Given the description of an element on the screen output the (x, y) to click on. 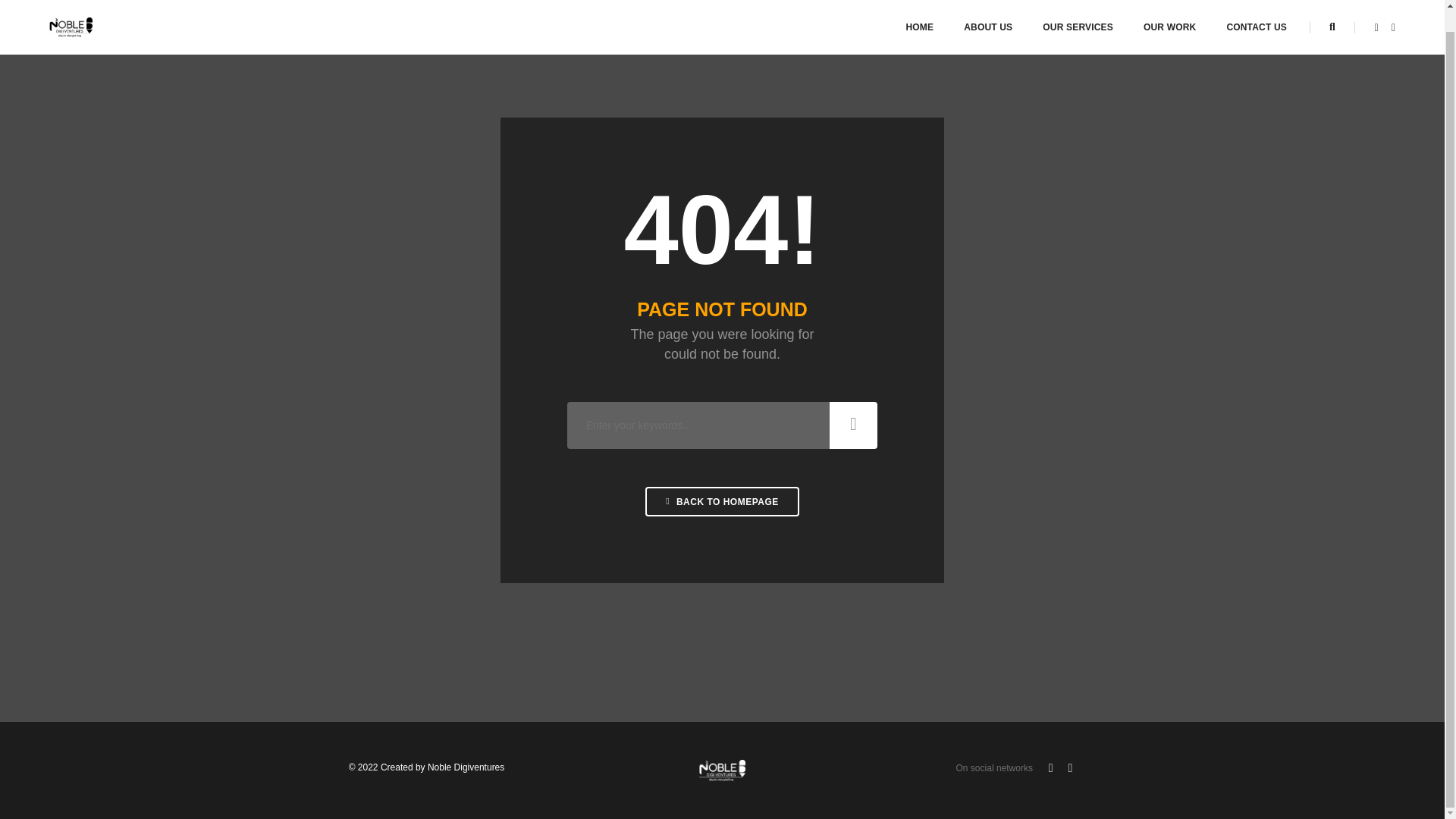
OUR WORK (1168, 16)
ABOUT US (987, 16)
OUR SERVICES (1077, 16)
 BACK TO HOMEPAGE (722, 501)
Noble Digiventures (71, 5)
CONTACT US (1256, 16)
